Given the description of an element on the screen output the (x, y) to click on. 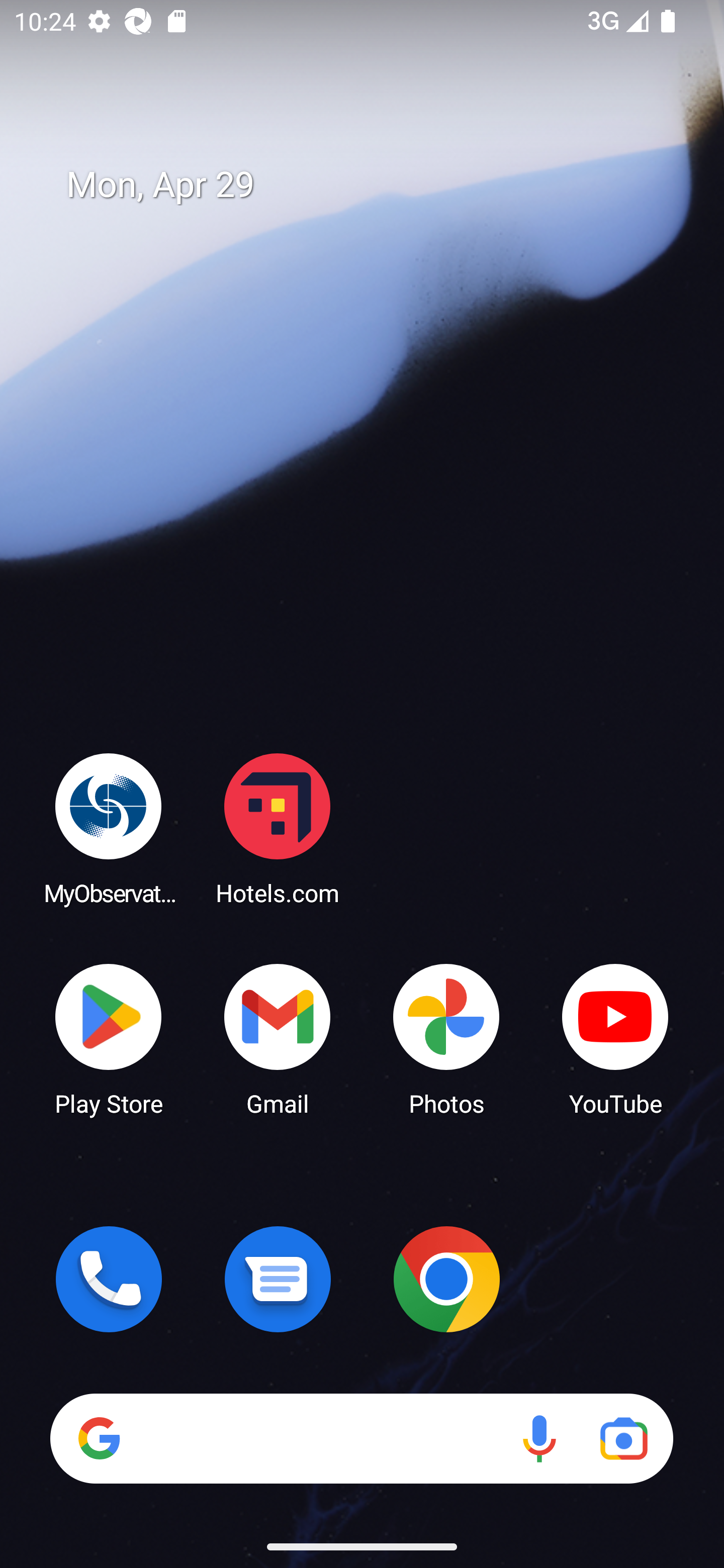
Mon, Apr 29 (375, 184)
MyObservatory (108, 828)
Hotels.com (277, 828)
Play Store (108, 1038)
Gmail (277, 1038)
Photos (445, 1038)
YouTube (615, 1038)
Phone (108, 1279)
Messages (277, 1279)
Chrome (446, 1279)
Search Voice search Google Lens (361, 1438)
Voice search (539, 1438)
Google Lens (623, 1438)
